Given the description of an element on the screen output the (x, y) to click on. 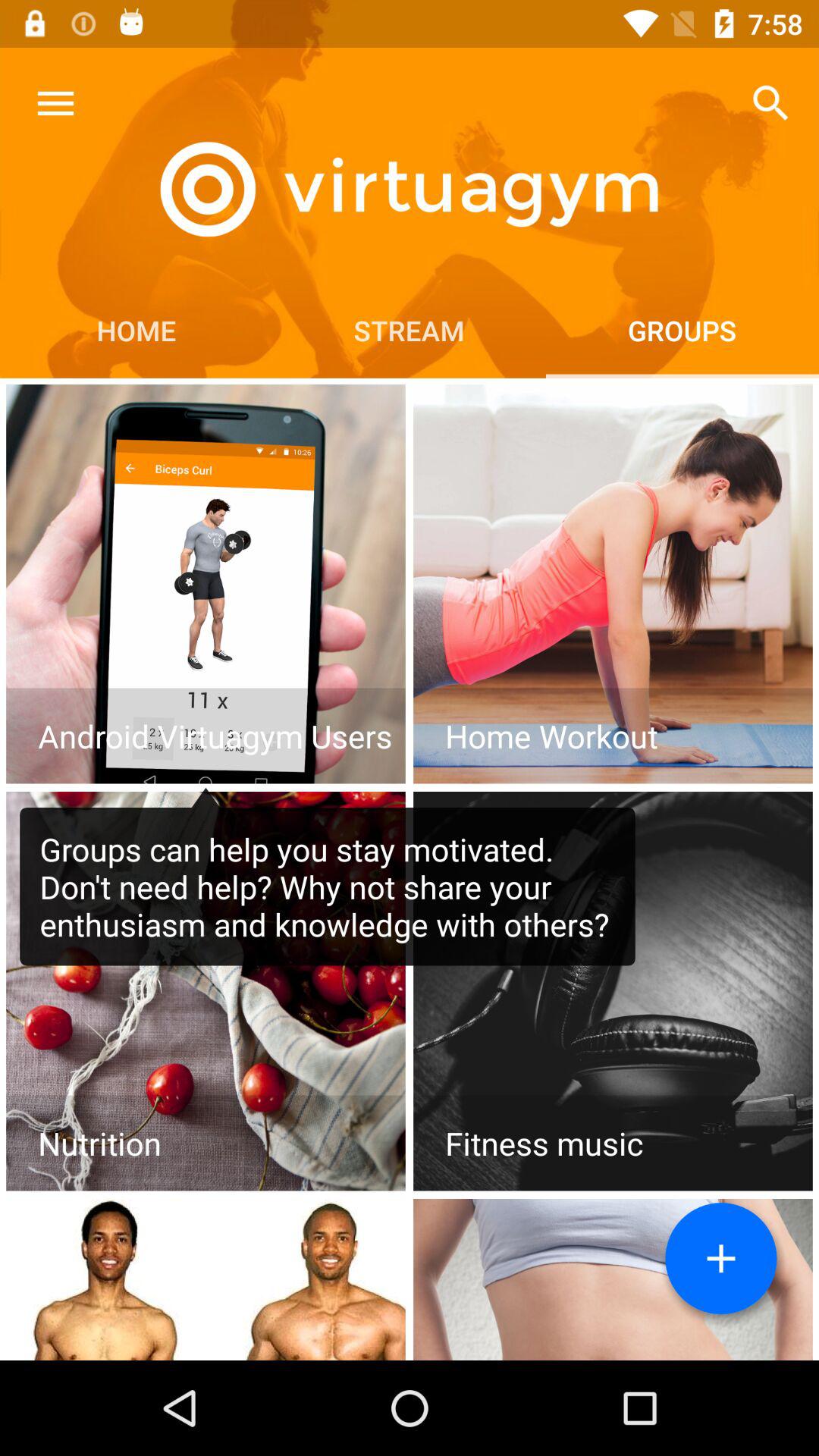
open nutrition facts (205, 990)
